Given the description of an element on the screen output the (x, y) to click on. 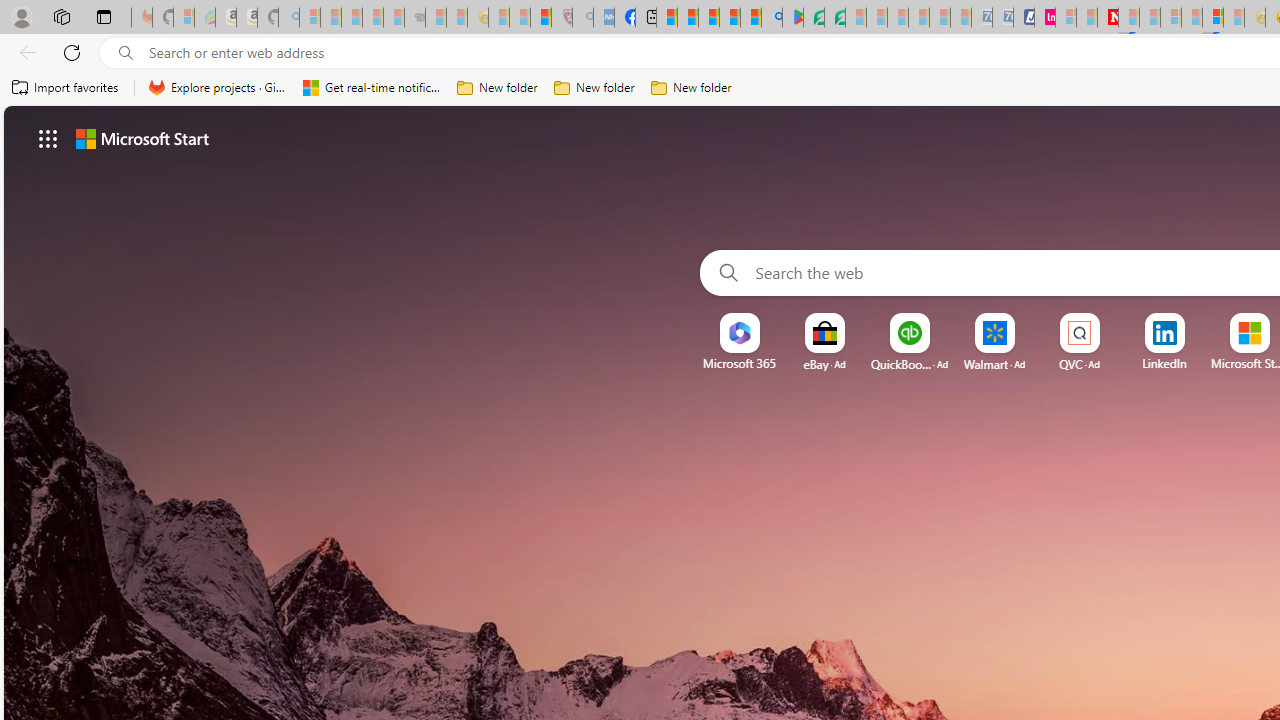
Microsoft start (142, 138)
